Given the description of an element on the screen output the (x, y) to click on. 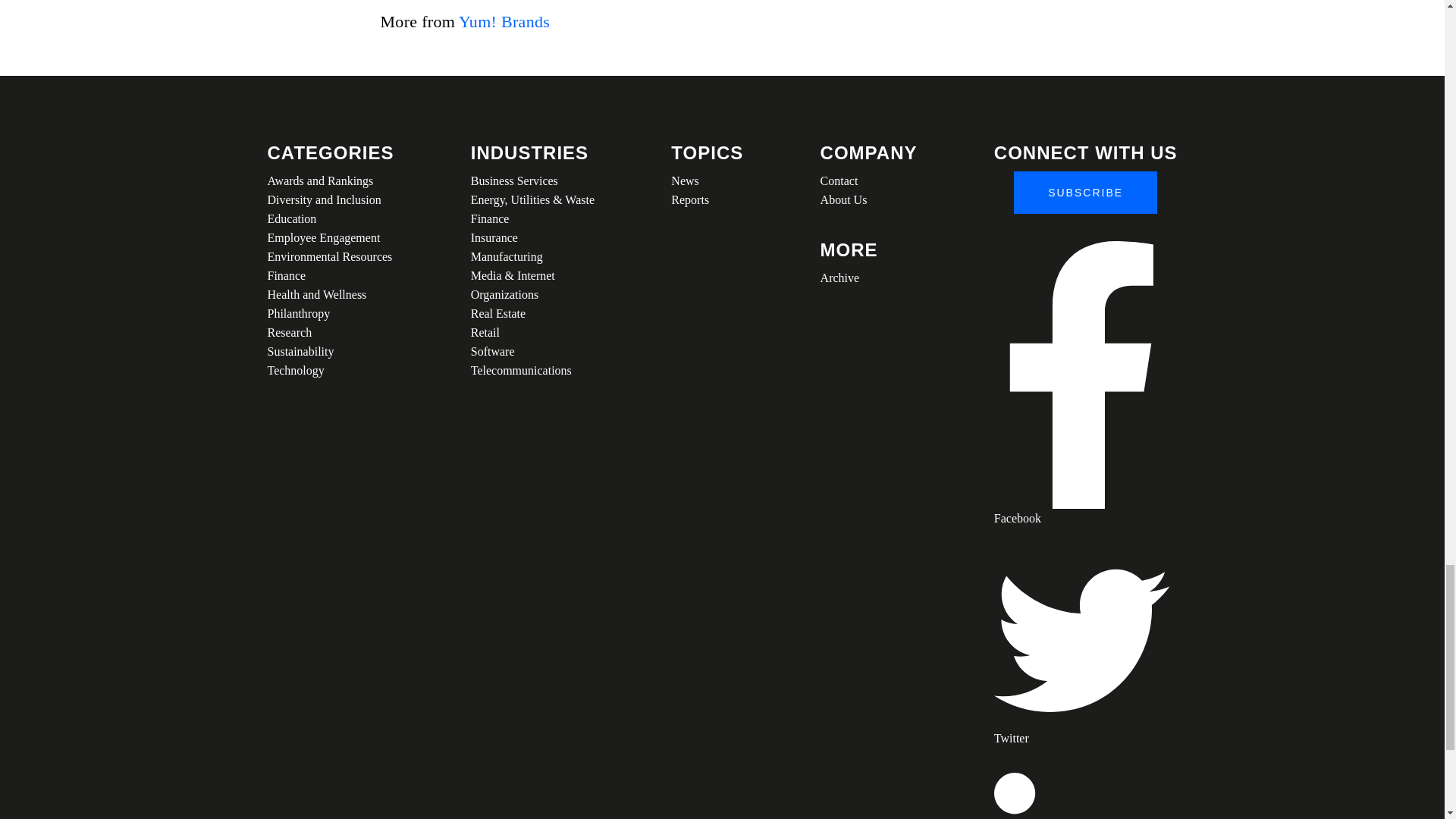
Environmental Resources (329, 256)
Yum! Brands (504, 21)
Employee Engagement (329, 237)
Awards and Rankings (329, 180)
Diversity and Inclusion (329, 199)
Education (329, 218)
CATEGORIES (329, 152)
